Given the description of an element on the screen output the (x, y) to click on. 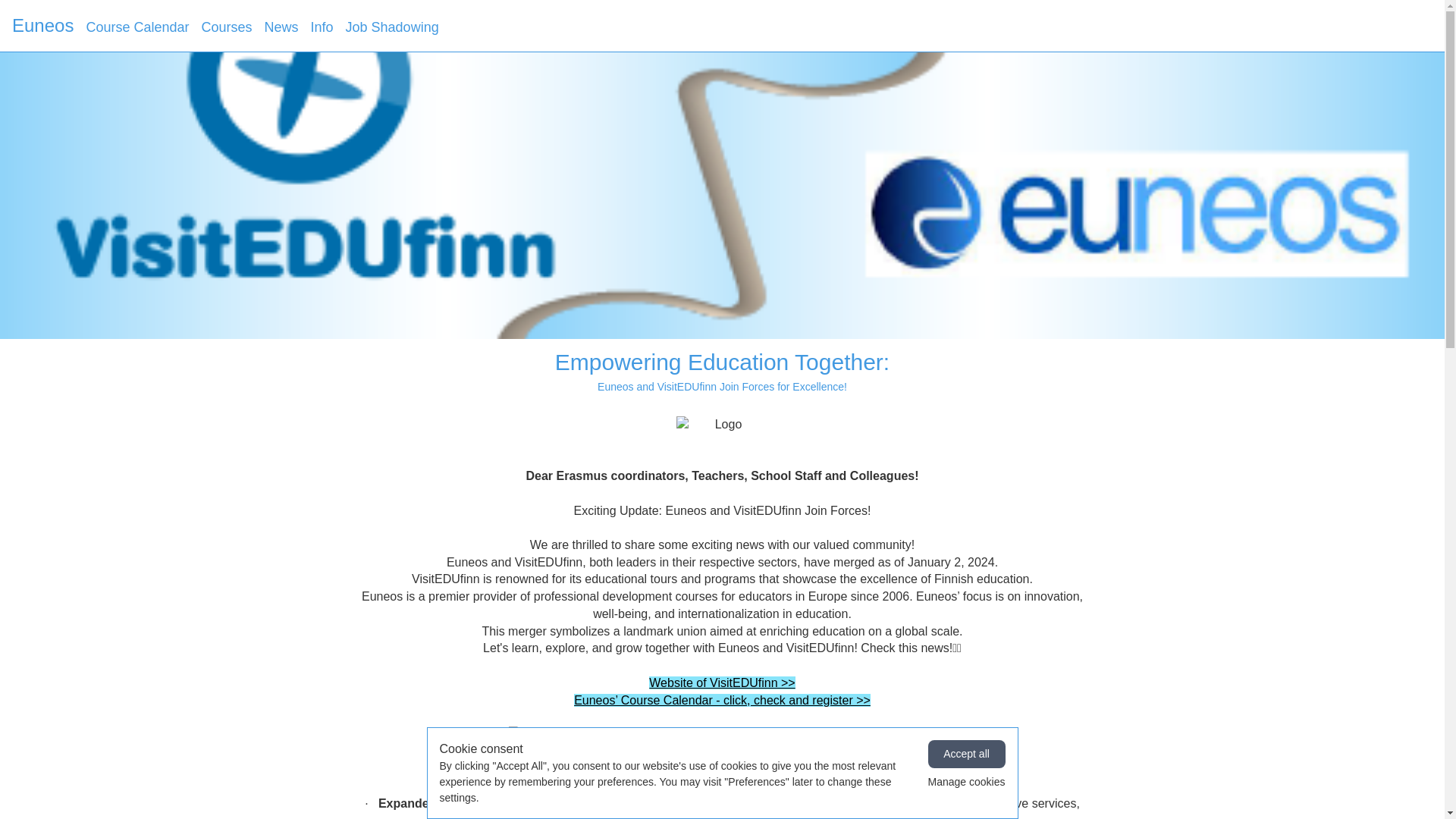
Job Shadowing (392, 27)
Info (322, 27)
Courses (225, 27)
Euneos (42, 25)
News (281, 27)
Accept all (967, 754)
Course Calendar (137, 27)
Manage cookies (967, 781)
